Given the description of an element on the screen output the (x, y) to click on. 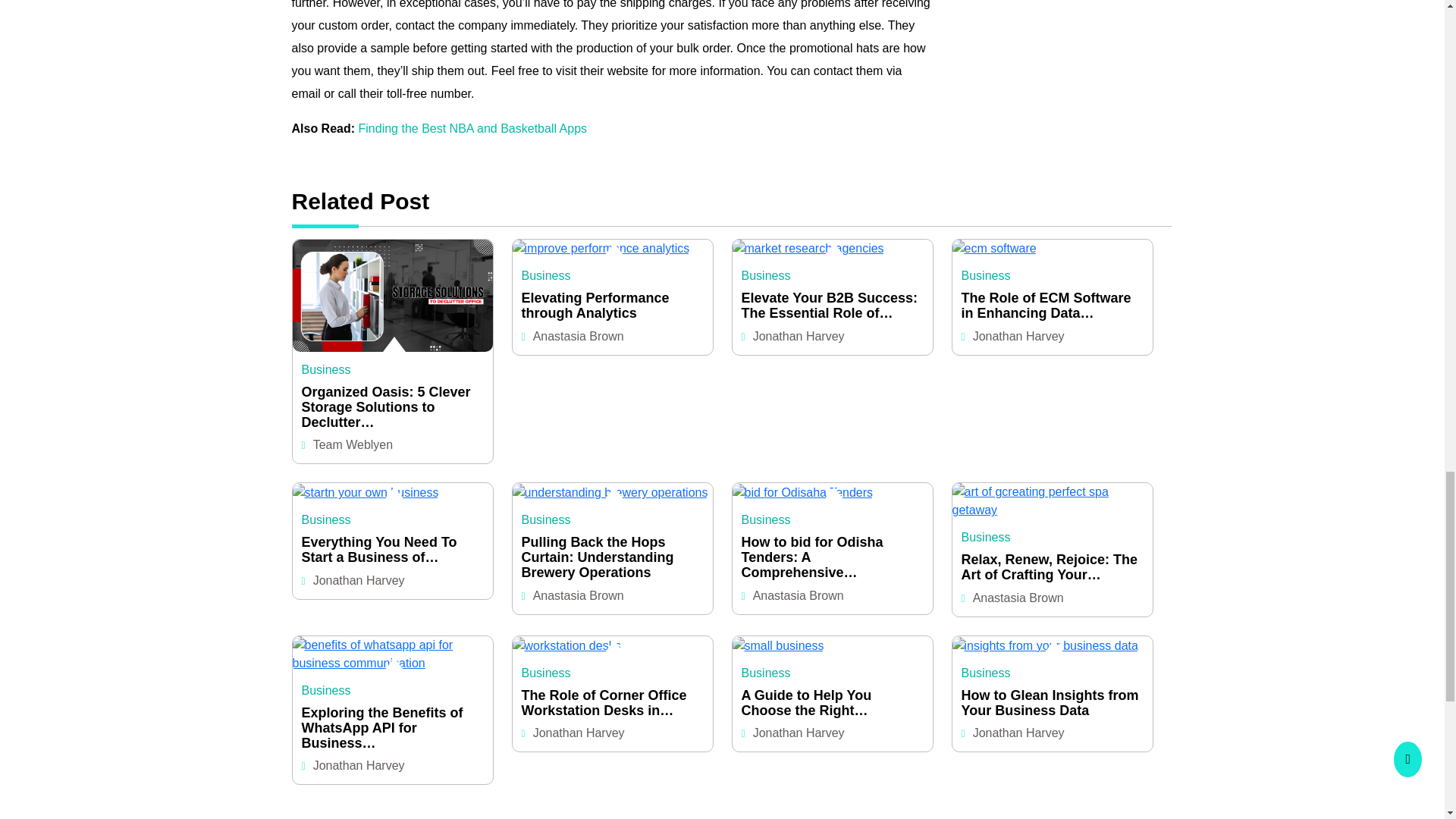
Finding the Best NBA and Basketball Apps (473, 128)
Business (325, 369)
Team Weblyen (353, 444)
